Given the description of an element on the screen output the (x, y) to click on. 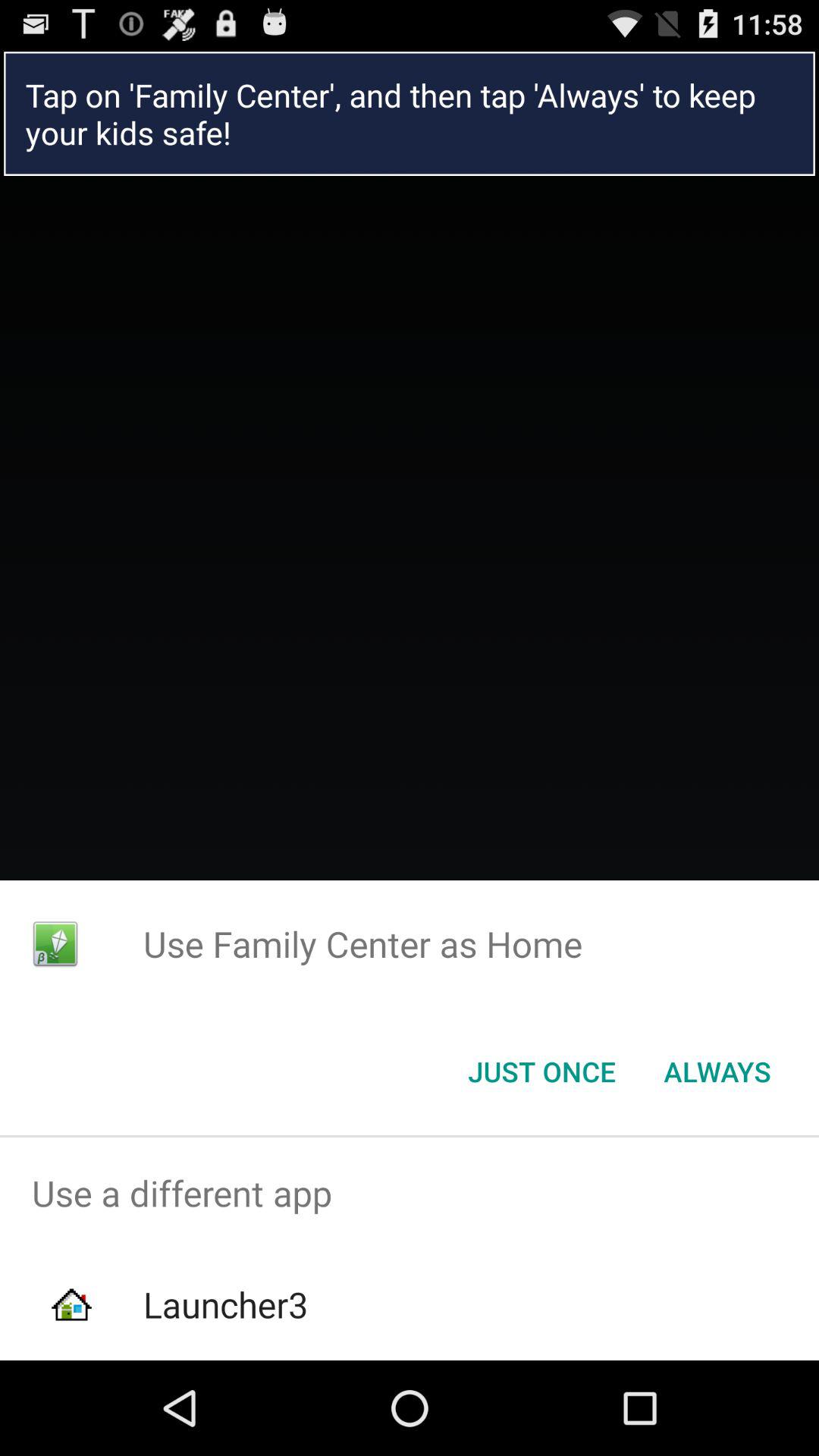
turn on the always item (717, 1071)
